Given the description of an element on the screen output the (x, y) to click on. 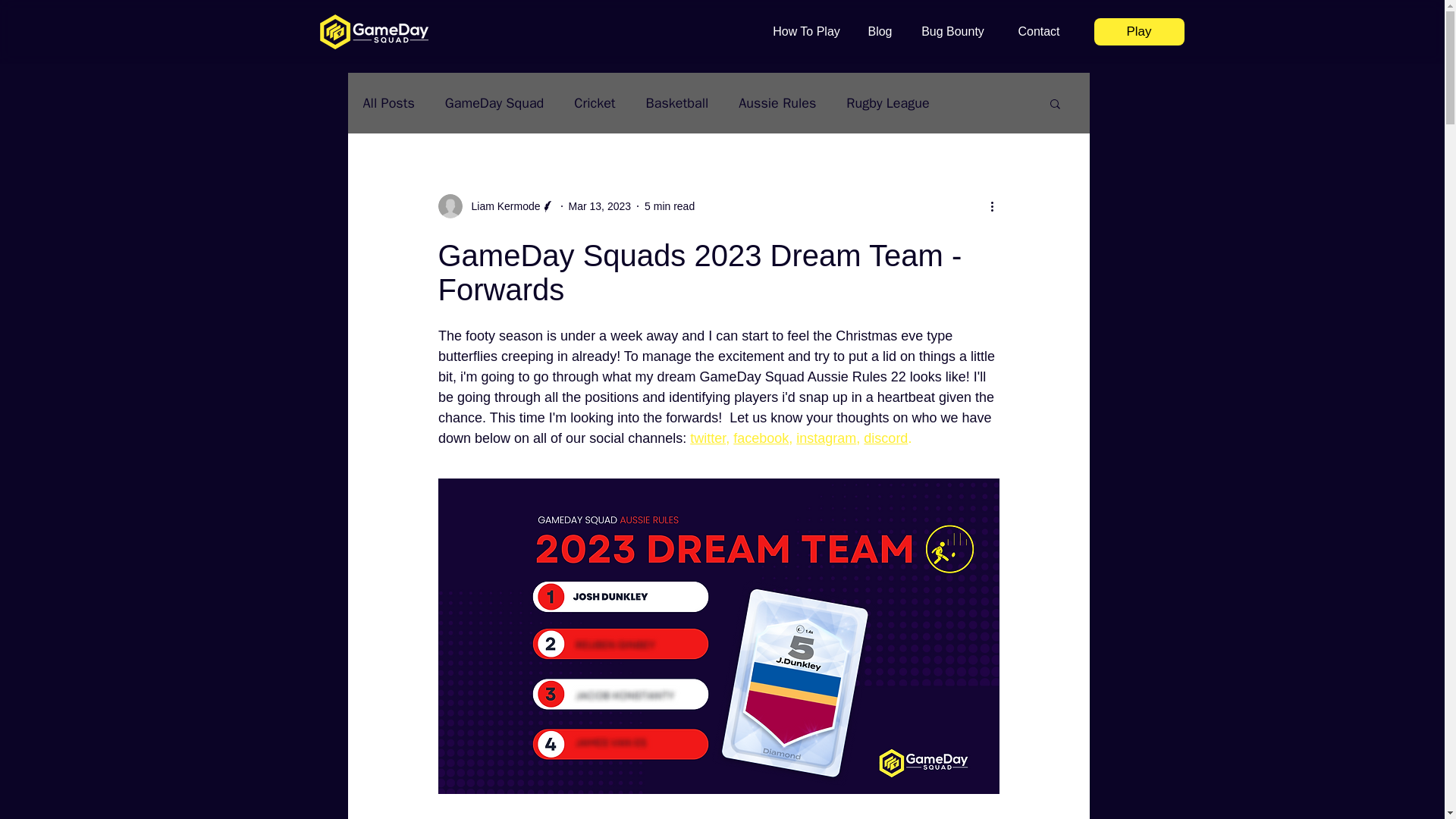
All Posts (387, 103)
Contact (1039, 31)
Aussie Rules (776, 103)
Blog (880, 31)
Mar 13, 2023 (600, 205)
twitter (707, 437)
instagram (826, 437)
Play (1138, 31)
facebook (761, 437)
Rugby League (886, 103)
